Given the description of an element on the screen output the (x, y) to click on. 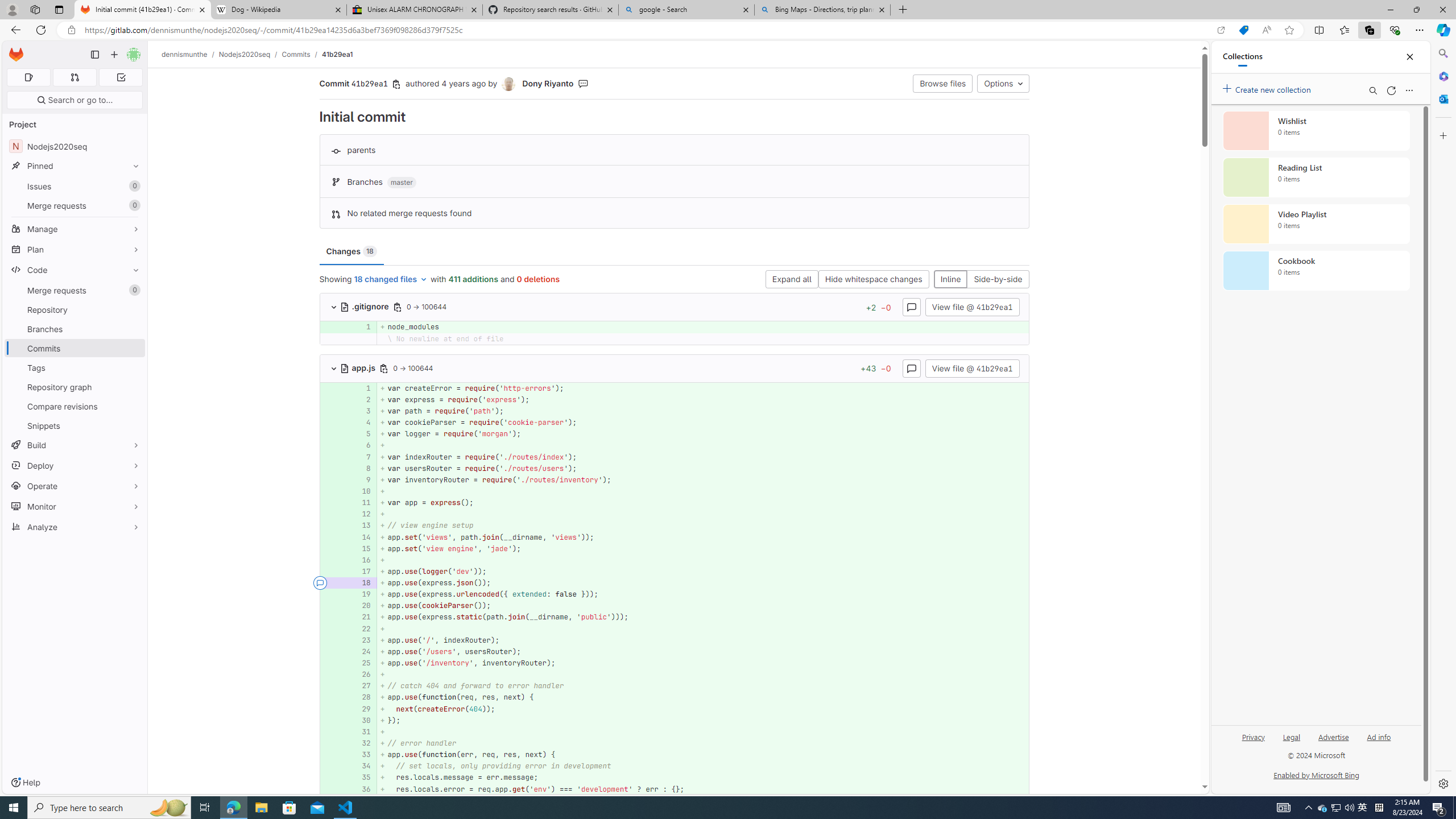
+ res.locals.message = err.message;  (703, 777)
AutomationID: 4a68969ef8e858229267b842dedf42ab5dde4d50_0_30 (674, 720)
Commits/ (301, 53)
13 (362, 525)
Tags (74, 367)
4 (362, 422)
28 (362, 697)
+ var cookieParser = require('cookie-parser');  (703, 422)
Help (25, 782)
26 (362, 674)
